Given the description of an element on the screen output the (x, y) to click on. 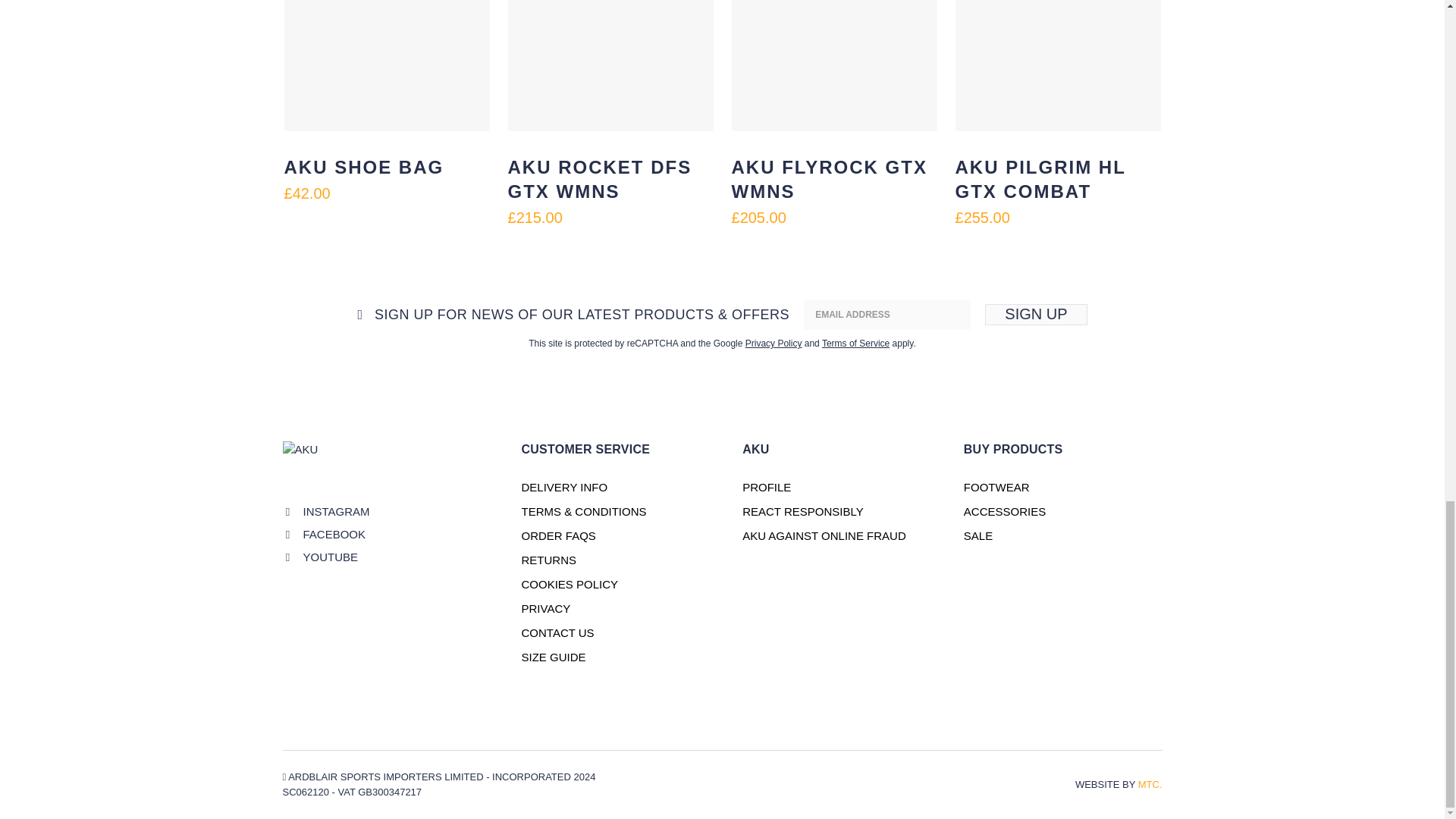
mtc (1149, 784)
AKU (337, 463)
Sign Up (1035, 314)
